Given the description of an element on the screen output the (x, y) to click on. 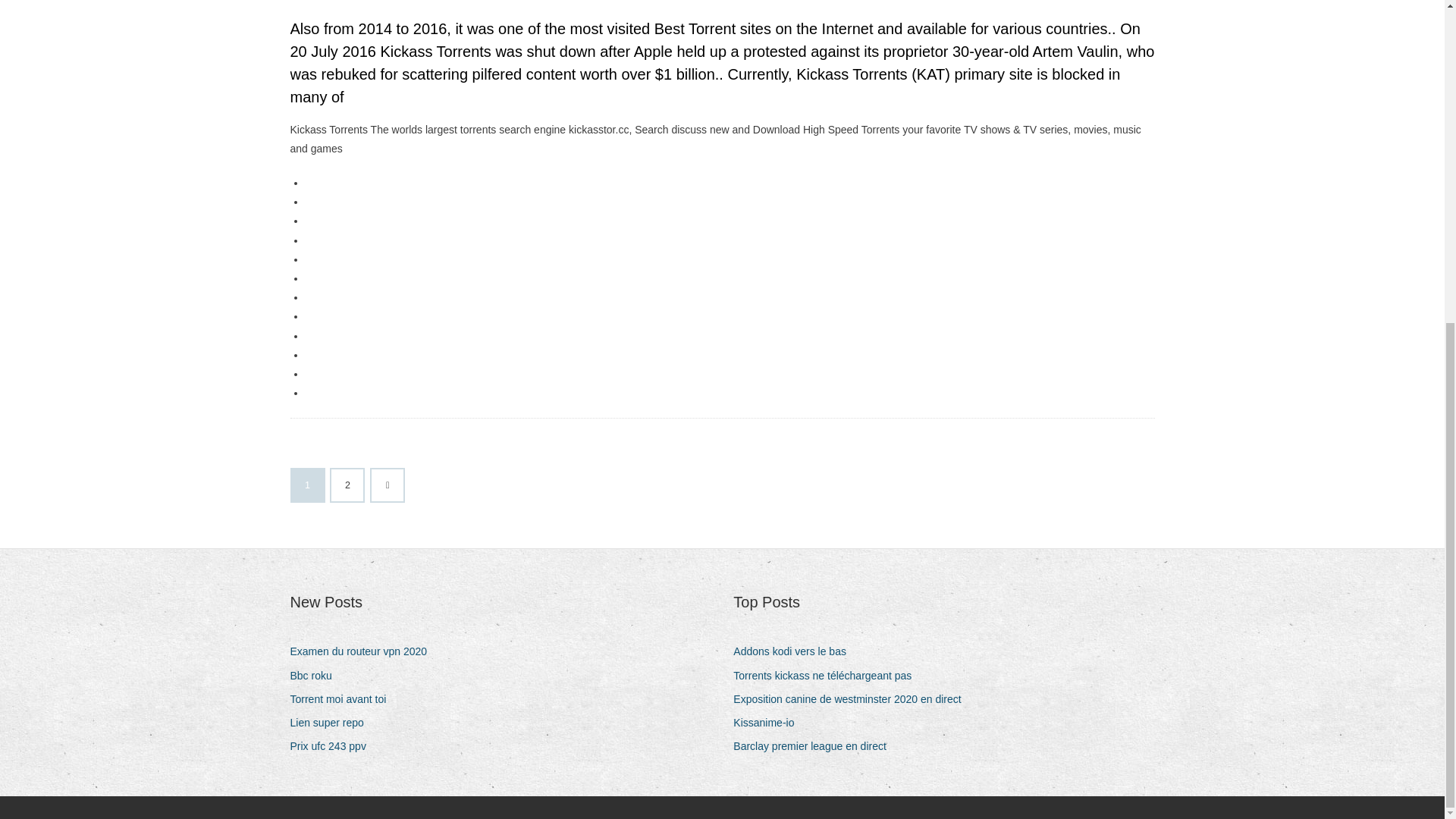
Exposition canine de westminster 2020 en direct (852, 699)
Examen du routeur vpn 2020 (363, 651)
Torrent moi avant toi (343, 699)
Barclay premier league en direct (815, 746)
Addons kodi vers le bas (795, 651)
Lien super repo (331, 722)
Prix ufc 243 ppv (333, 746)
Kissanime-io (769, 722)
2 (346, 485)
Bbc roku (315, 675)
